Given the description of an element on the screen output the (x, y) to click on. 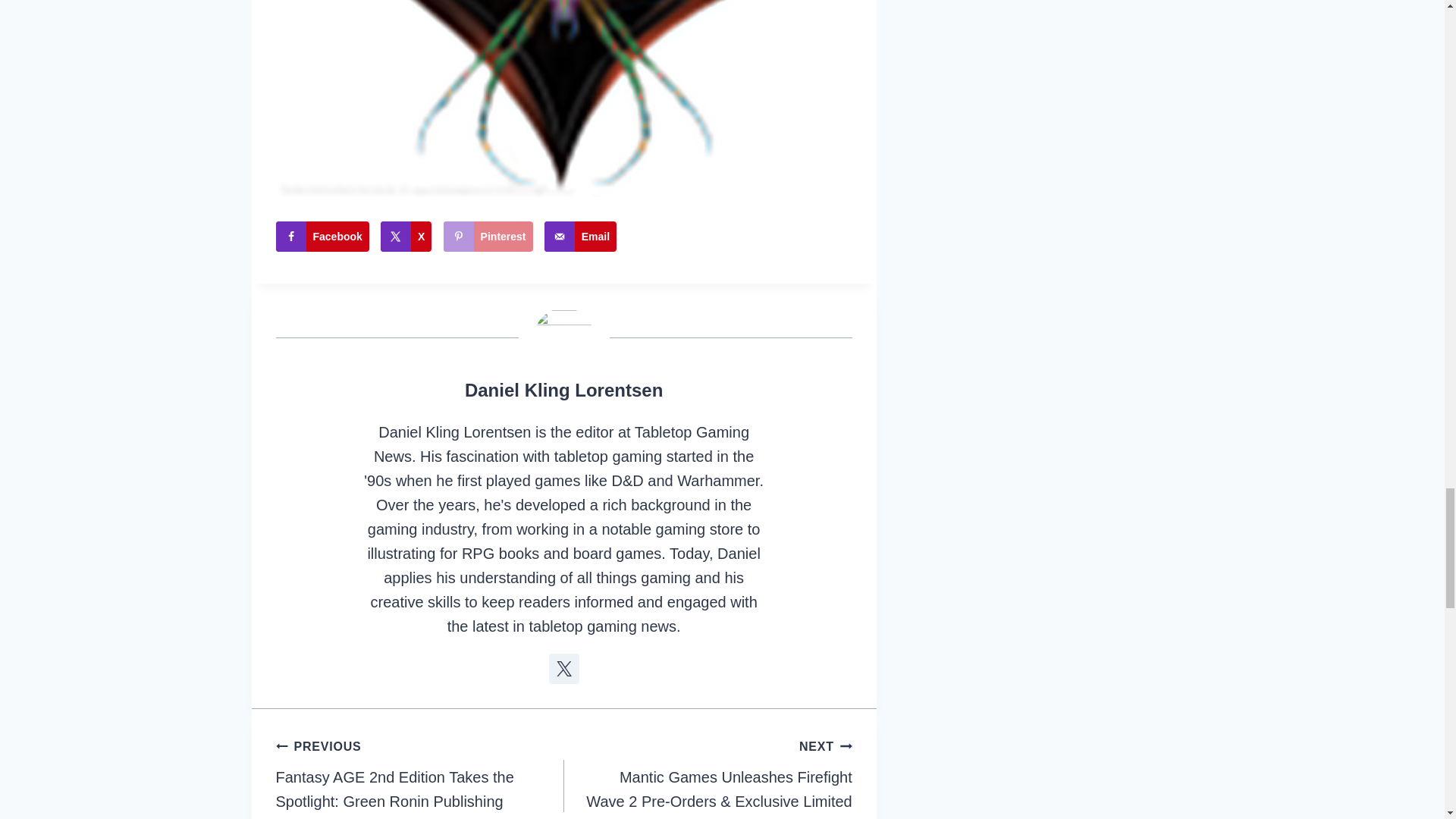
Send over email (579, 236)
Share on Facebook (322, 236)
Posts by Daniel Kling Lorentsen (563, 390)
Follow Daniel Kling Lorentsen on X formerly Twitter (563, 668)
Share on X (405, 236)
Save to Pinterest (488, 236)
